Given the description of an element on the screen output the (x, y) to click on. 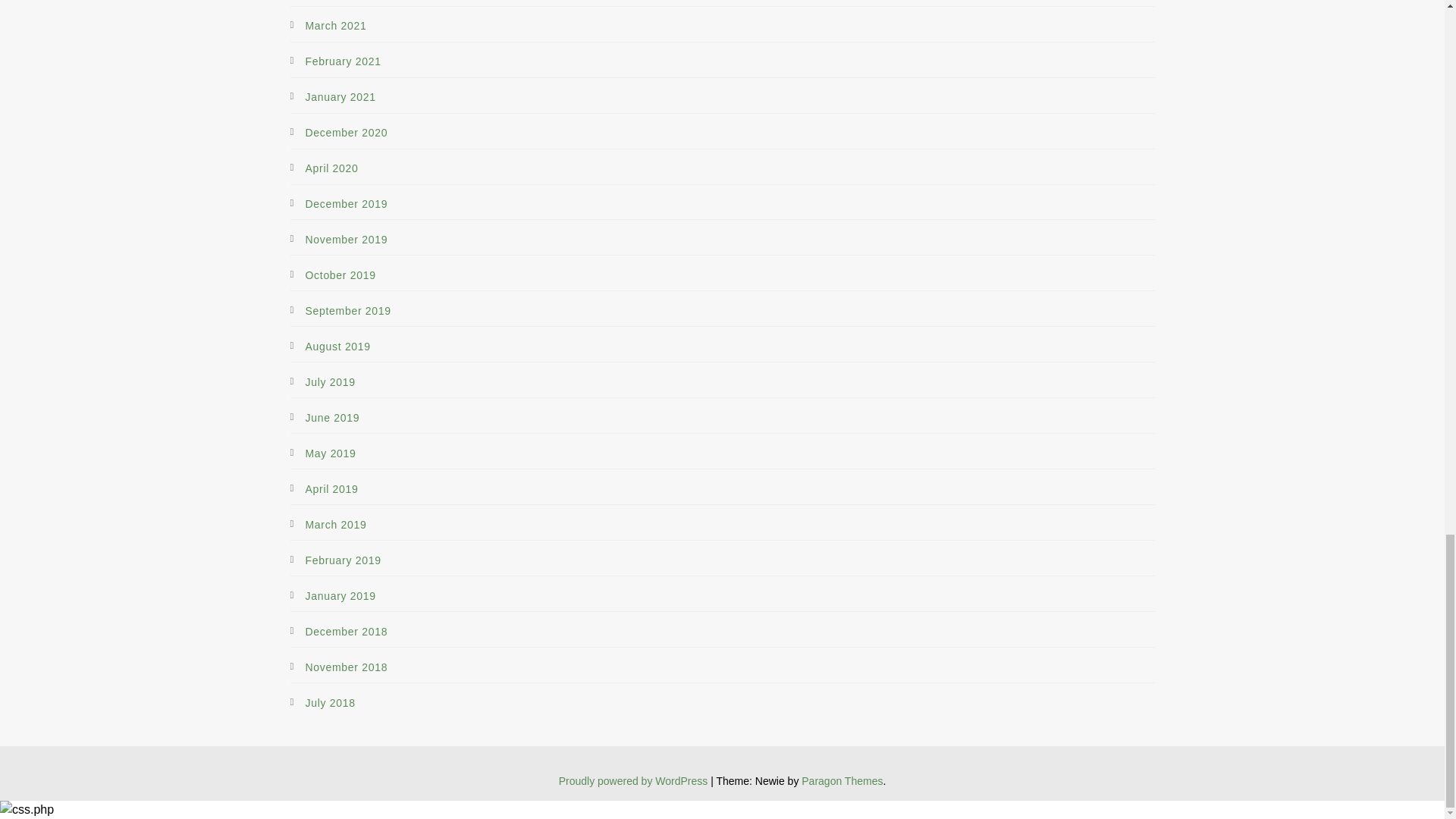
November 2019 (345, 240)
December 2020 (345, 133)
December 2019 (345, 204)
March 2021 (335, 26)
September 2019 (347, 311)
July 2019 (329, 382)
August 2019 (336, 346)
October 2019 (339, 275)
April 2020 (331, 168)
February 2021 (342, 61)
